Given the description of an element on the screen output the (x, y) to click on. 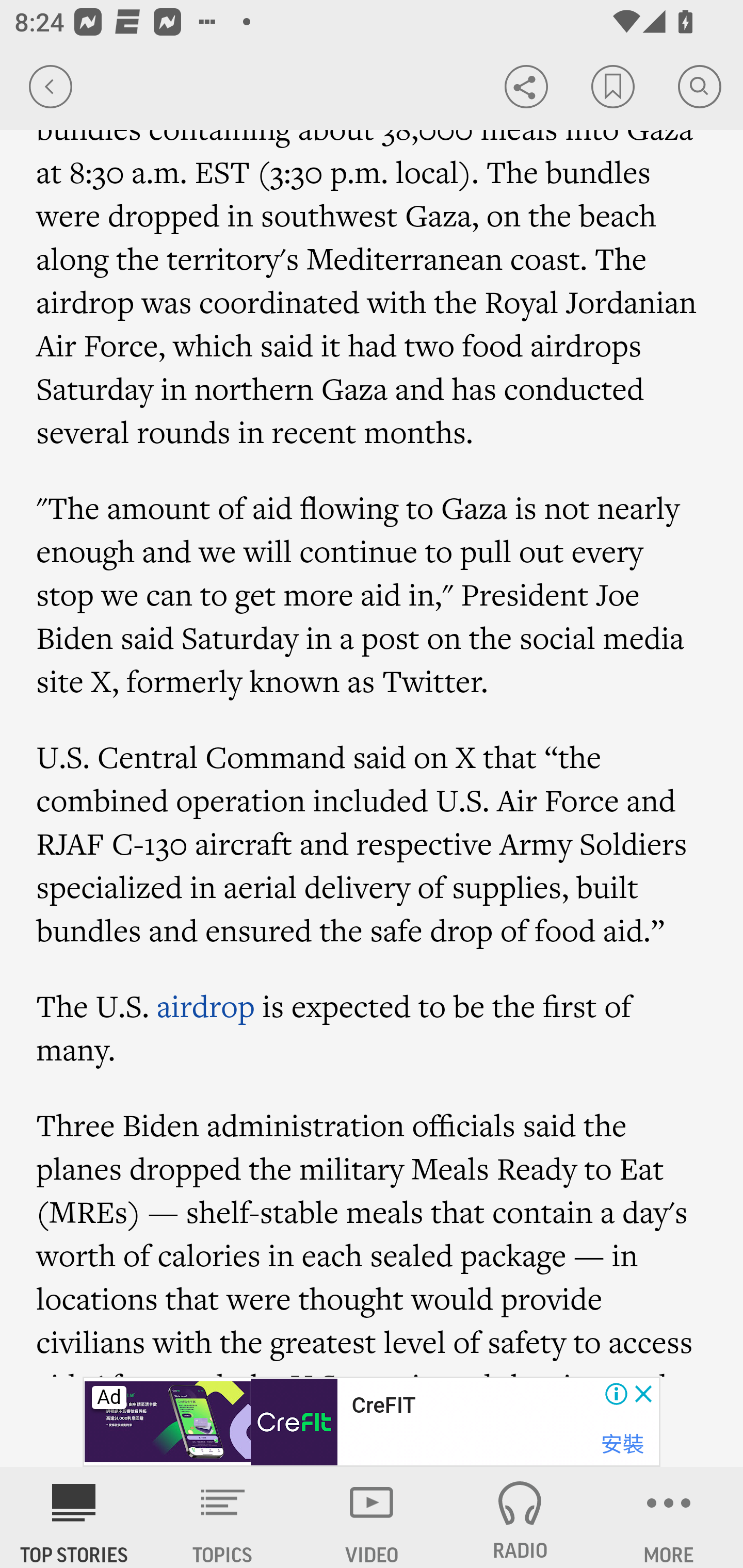
airdrop (205, 1006)
CreFIT (382, 1405)
安裝 (621, 1444)
AP News TOP STORIES (74, 1517)
TOPICS (222, 1517)
VIDEO (371, 1517)
RADIO (519, 1517)
MORE (668, 1517)
